Given the description of an element on the screen output the (x, y) to click on. 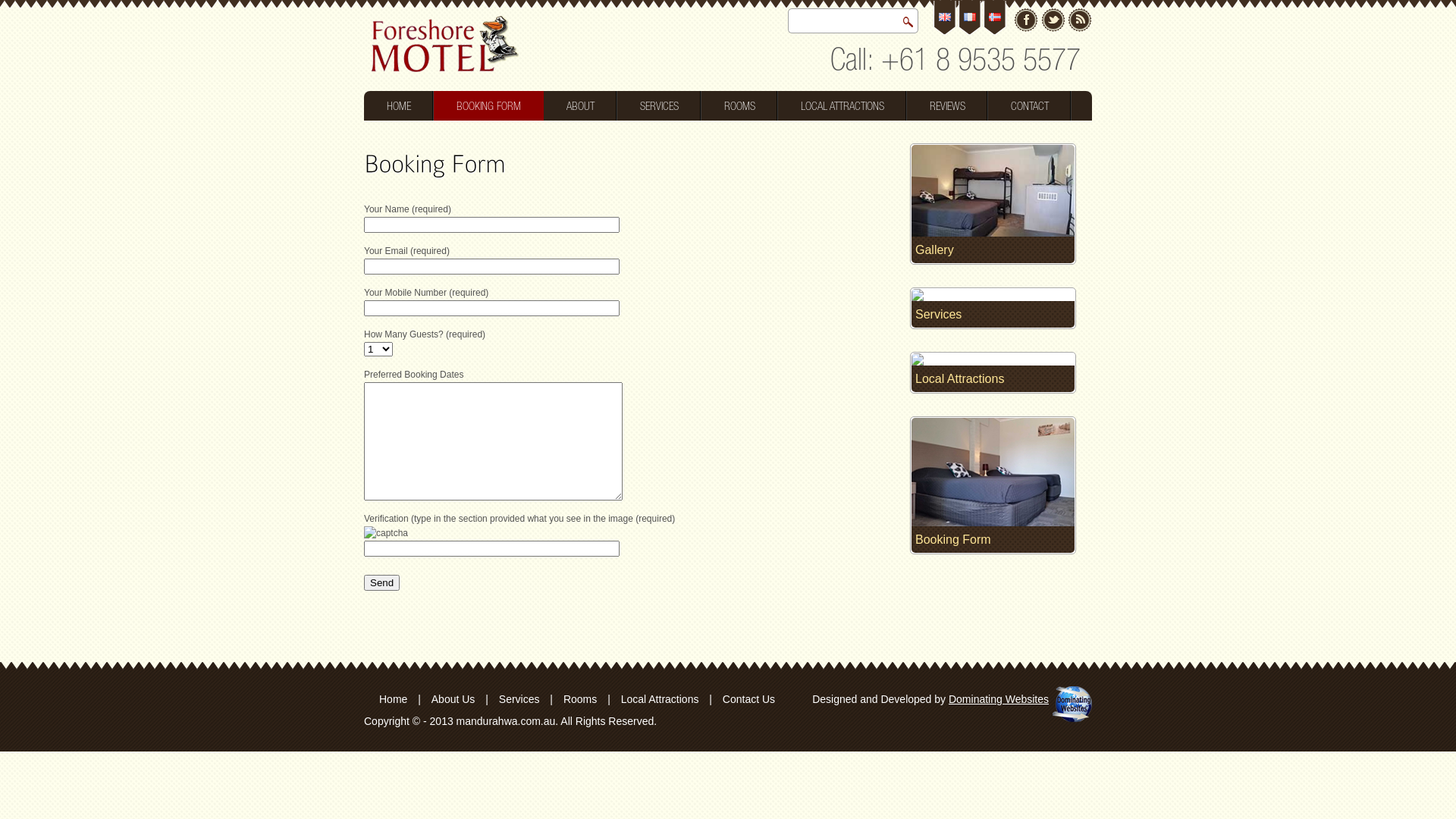
REVIEWS Element type: text (947, 105)
Services Element type: text (992, 318)
Home Element type: text (396, 699)
Local Attractions Element type: text (659, 699)
BOOKING FORM Element type: text (488, 105)
ABOUT Element type: text (580, 105)
LOCAL ATTRACTIONS Element type: text (842, 105)
Dominating Websites Element type: text (998, 699)
Send Element type: text (381, 582)
CONTACT Element type: text (1029, 105)
Local Attractions Element type: text (992, 382)
Booking Form Element type: text (992, 543)
Rooms Element type: text (579, 699)
HOME Element type: text (398, 105)
About Us Element type: text (453, 699)
Contact Us Element type: text (748, 699)
Gallery Element type: text (992, 253)
Services Element type: text (519, 699)
SERVICES Element type: text (659, 105)
ROOMS Element type: text (739, 105)
